Given the description of an element on the screen output the (x, y) to click on. 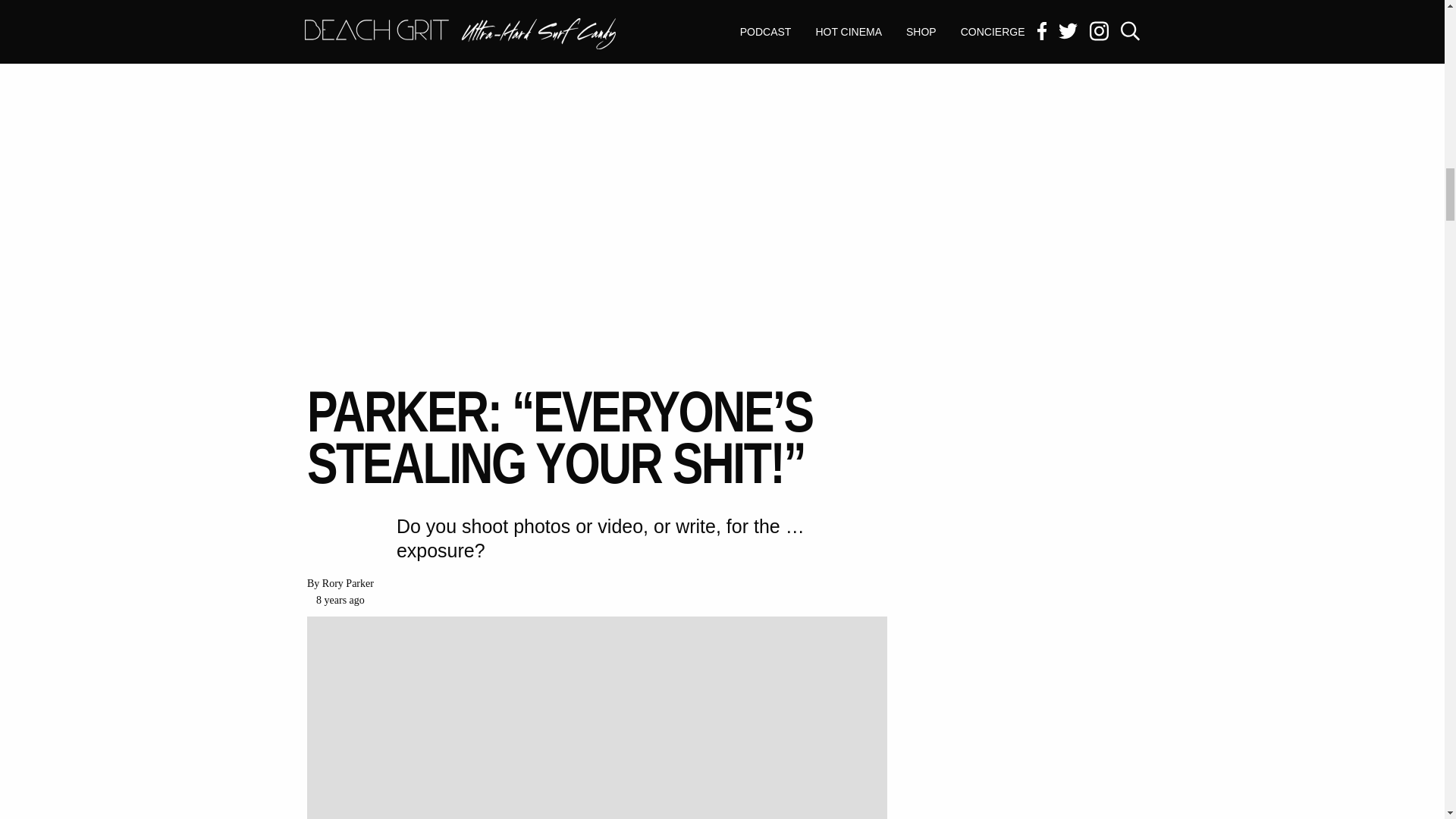
Rory Parker (347, 583)
